Given the description of an element on the screen output the (x, y) to click on. 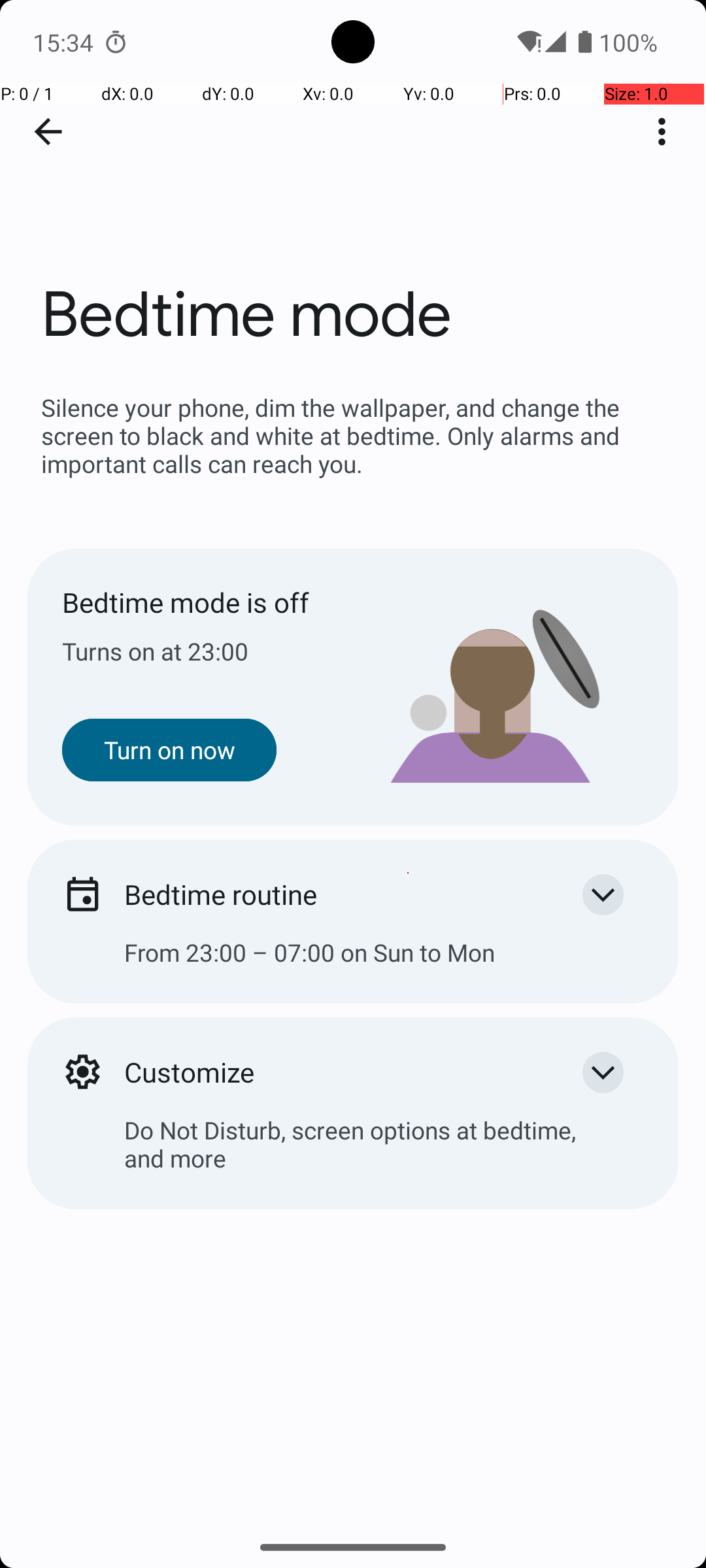
Bedtime mode Element type: android.widget.FrameLayout (353, 195)
Silence your phone, dim the wallpaper, and change the screen to black and white at bedtime. Only alarms and important calls can reach you. Element type: android.widget.TextView (352, 435)
Bedtime mode is off Element type: android.widget.TextView (207, 601)
Turns on at 23:00 Element type: android.widget.TextView (207, 650)
Turn on now Element type: android.widget.Button (169, 749)
Bedtime routine Element type: android.widget.TextView (332, 893)
Expand the card Bedtime routine Element type: android.widget.ImageView (602, 894)
From 23:00 – 07:00 on Sun to Mon Element type: android.widget.TextView (352, 962)
Customize Element type: android.widget.TextView (332, 1071)
Expand the card Customize Element type: android.widget.ImageView (602, 1071)
Do Not Disturb, screen options at bedtime, and more Element type: android.widget.TextView (352, 1154)
